Given the description of an element on the screen output the (x, y) to click on. 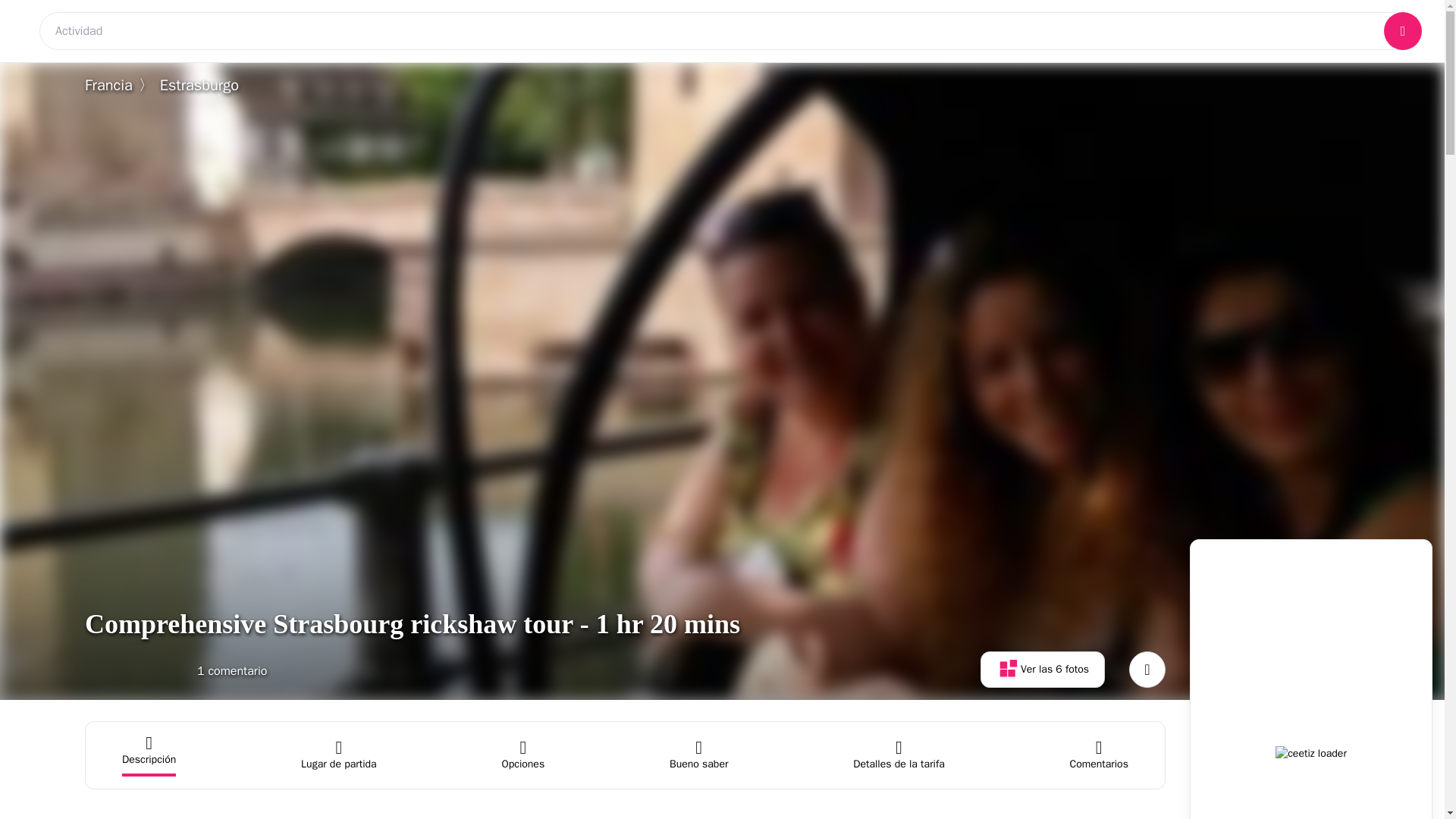
Bueno saber (698, 755)
Detalles de la tarifa (898, 755)
Comentarios (1097, 755)
Ver las 6 fotos (175, 669)
Lugar de partida (1042, 669)
Bueno saber (339, 755)
Detalles de la tarifa (698, 755)
Lugar de partida (898, 755)
Estrasburgo (339, 755)
